Given the description of an element on the screen output the (x, y) to click on. 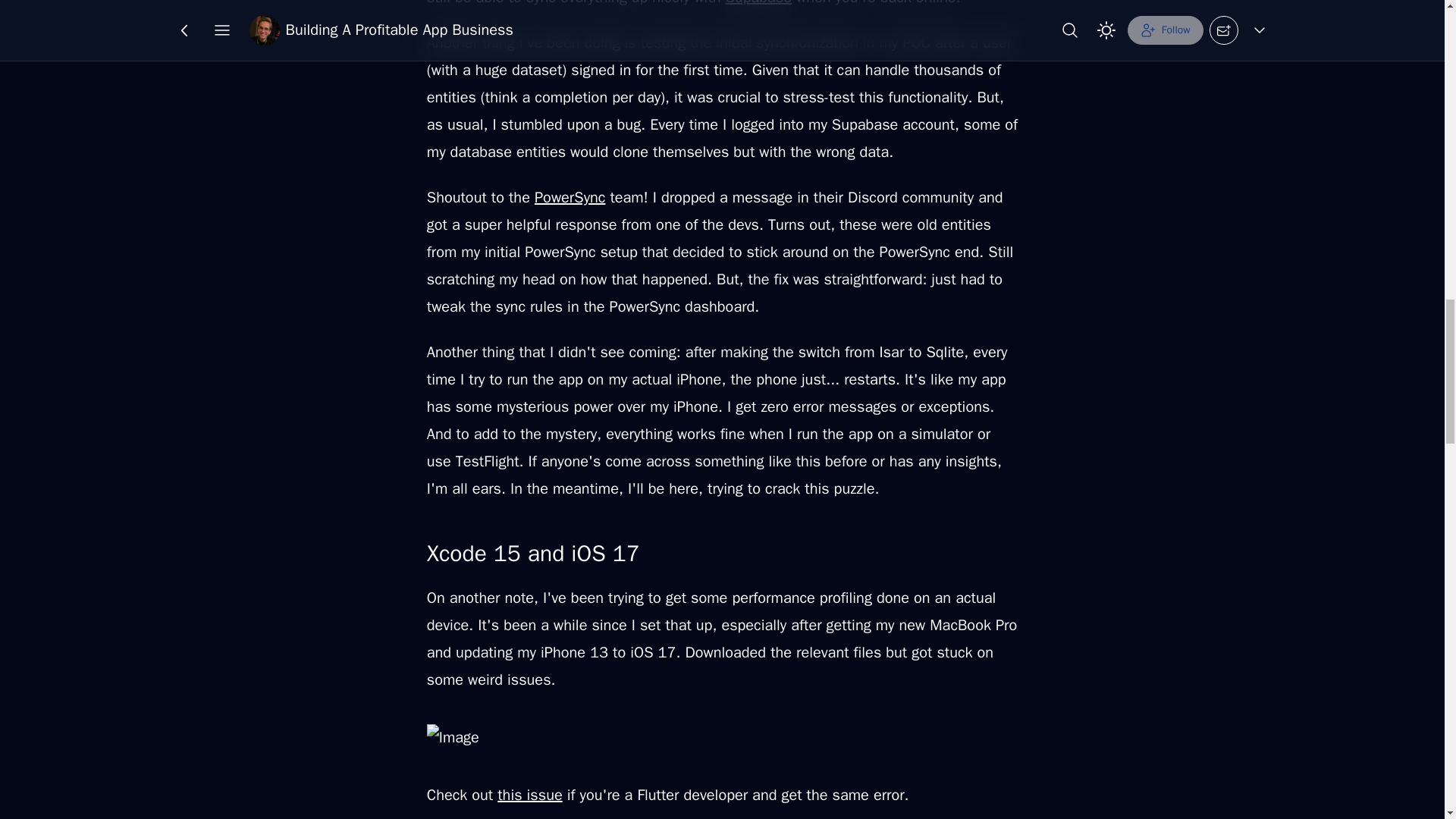
this issue (529, 794)
PowerSync (569, 197)
Supabase (758, 3)
